Given the description of an element on the screen output the (x, y) to click on. 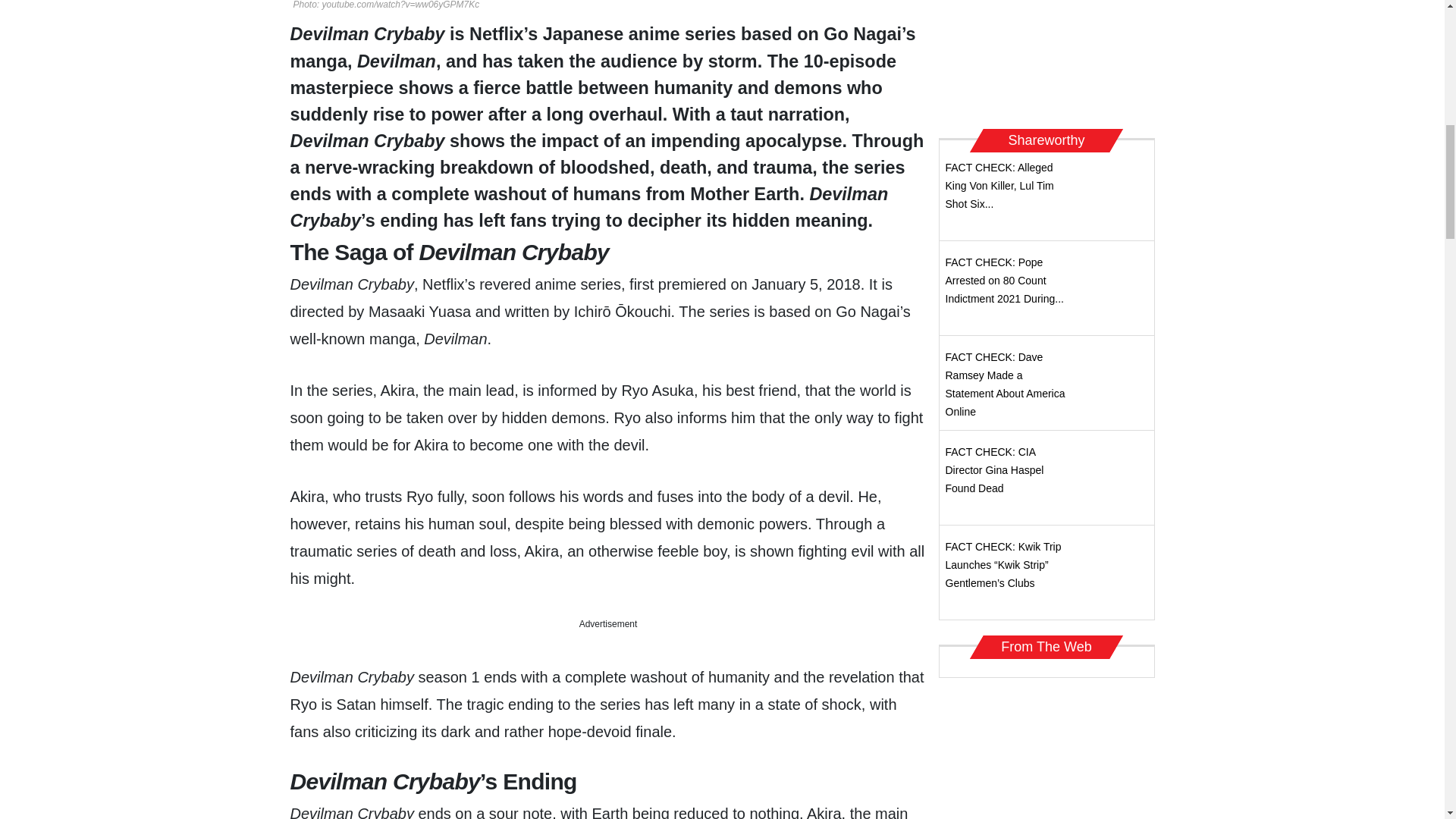
FACT CHECK: Alleged King Von Killer, Lul Tim Shot Six... (998, 185)
FACT CHECK: CIA Director Gina Haspel Found Dead (993, 469)
Advertisement (1046, 59)
